Given the description of an element on the screen output the (x, y) to click on. 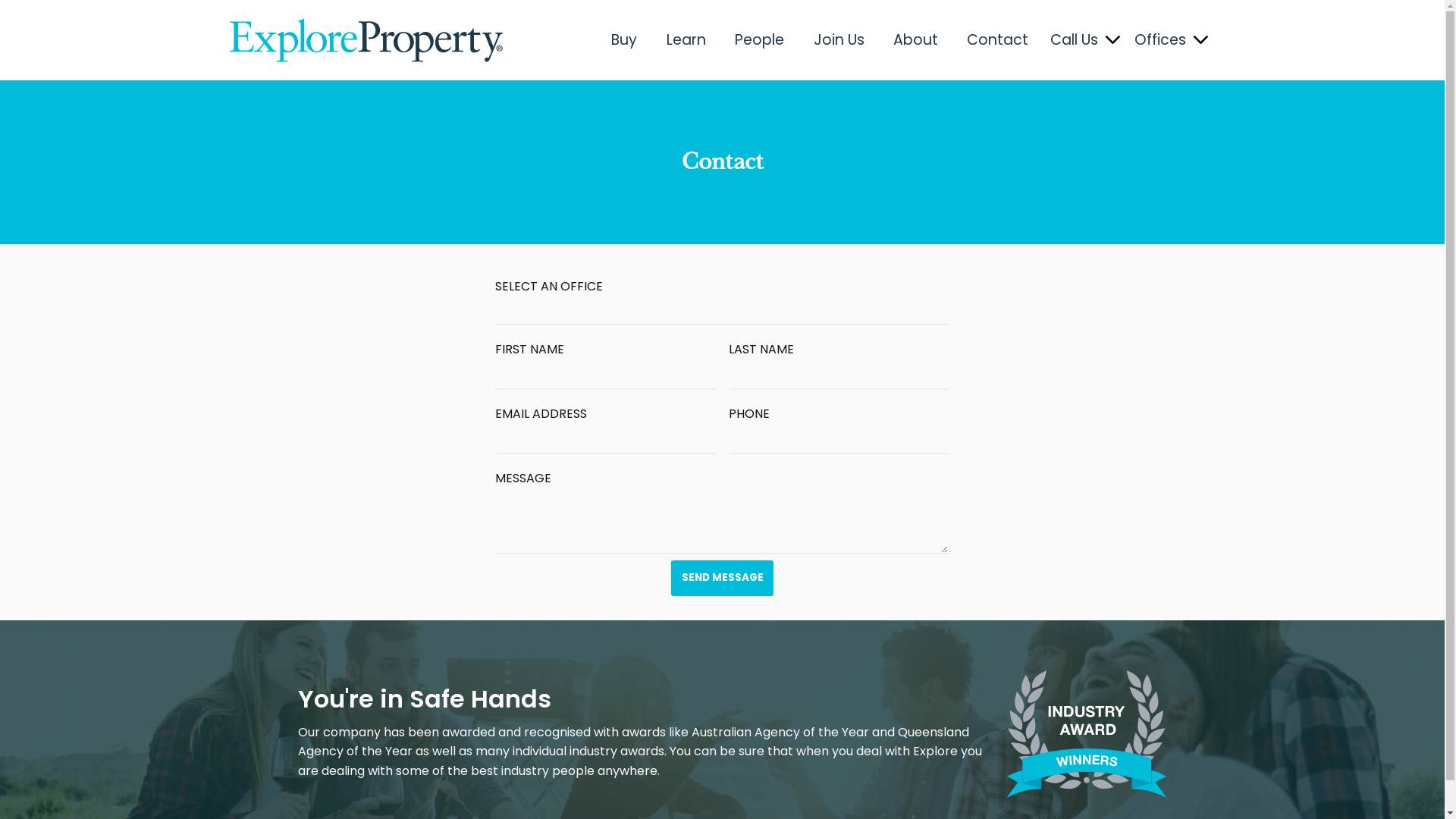
About Element type: text (915, 39)
SEND MESSAGE Element type: text (722, 578)
People Element type: text (759, 39)
Learn Element type: text (686, 39)
Contact Element type: text (997, 39)
Join Us Element type: text (838, 39)
Buy Element type: text (623, 39)
